Given the description of an element on the screen output the (x, y) to click on. 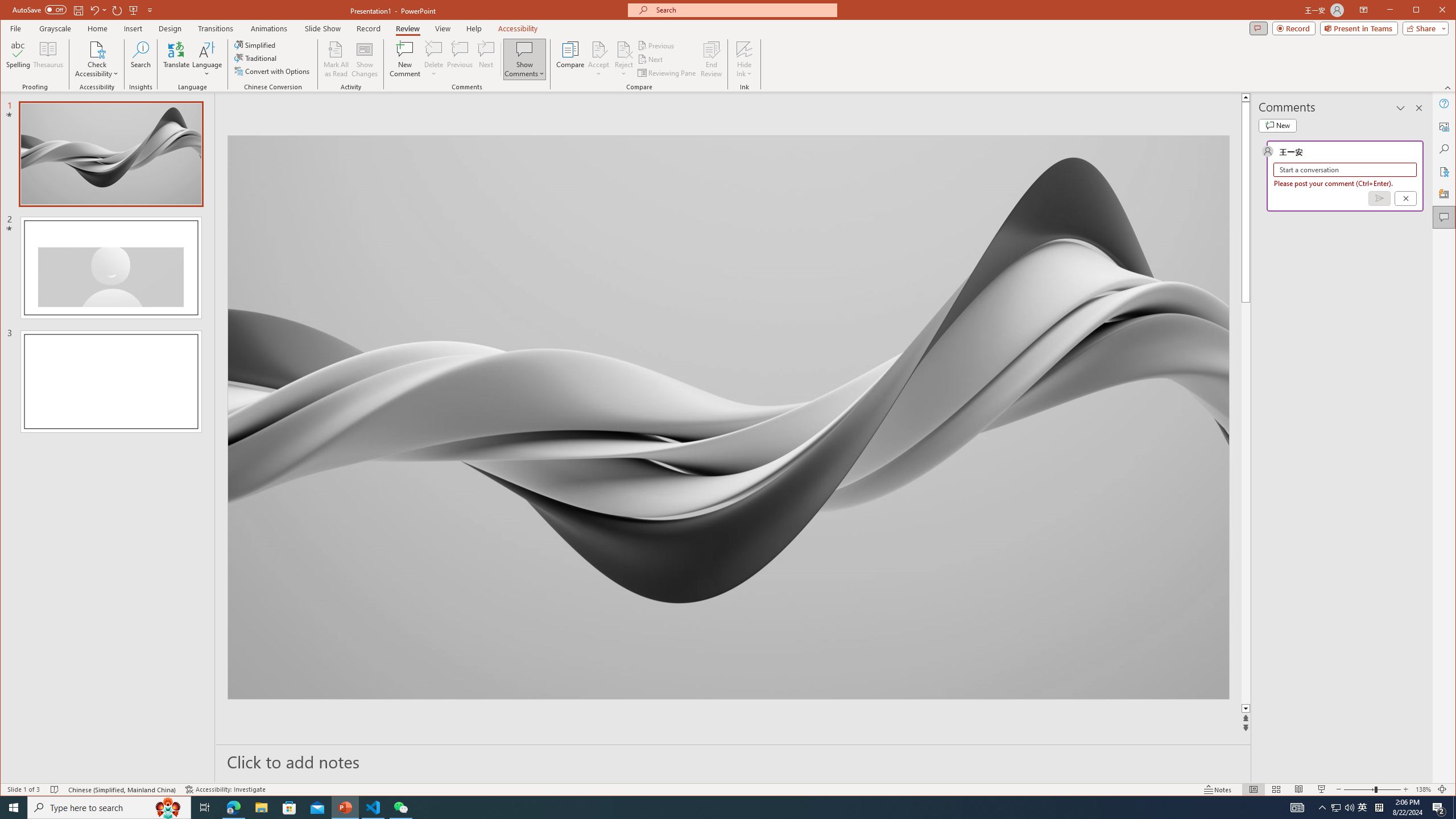
Wavy 3D art (728, 416)
WeChat - 1 running window (400, 807)
New comment (1277, 125)
